Given the description of an element on the screen output the (x, y) to click on. 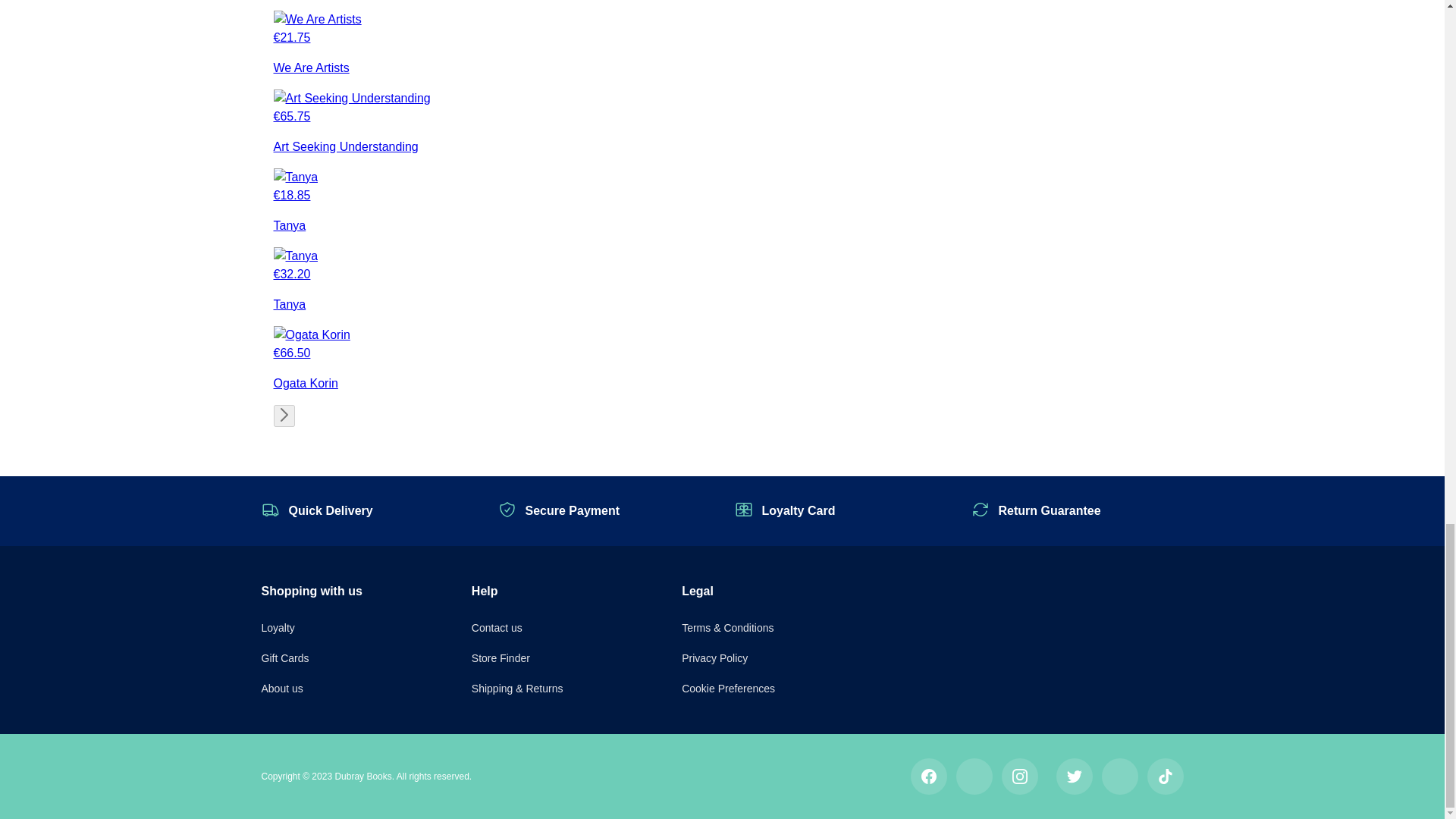
Store Finder (500, 657)
Privacy Policy (714, 657)
Gift Cards (284, 657)
Loyalty (277, 627)
Cookie Preferences (727, 688)
About us (281, 688)
Contact us (496, 627)
